Given the description of an element on the screen output the (x, y) to click on. 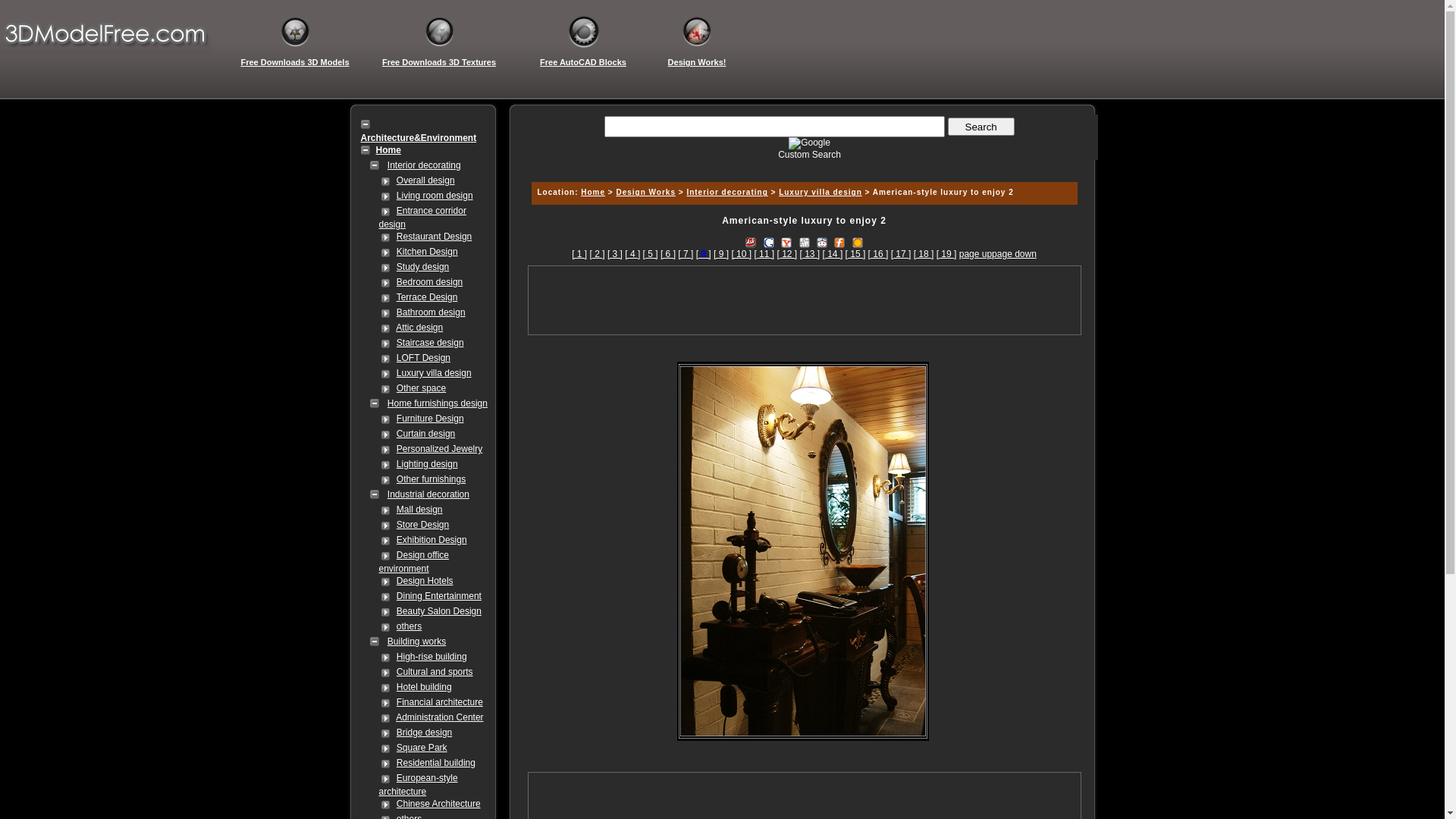
Home furnishings design Element type: text (437, 403)
[ 12 ] Element type: text (786, 253)
Residential building Element type: text (435, 762)
Curtain design Element type: text (425, 433)
Design Works! Element type: text (696, 61)
[ 16 ] Element type: text (878, 253)
Digg This! Element type: hover (803, 241)
Administration Center Element type: text (439, 717)
Overall design Element type: text (425, 180)
bookmark to Yahoo! MyWeb Element type: hover (785, 241)
[ 6 ] Element type: text (667, 253)
[ 4 ] Element type: text (632, 253)
Home Element type: text (388, 149)
[ 1 ] Element type: text (578, 253)
Bedroom design Element type: text (429, 281)
    Search     Element type: text (980, 126)
Dining Entertainment Element type: text (438, 595)
Store Design Element type: text (422, 524)
Bathroom design Element type: text (430, 312)
Attic design Element type: text (418, 327)
ABookmark  To Furl Element type: hover (839, 241)
Luxury villa design Element type: text (433, 372)
Add to ma.gnolia Element type: hover (857, 241)
Add to reddit Element type: hover (821, 241)
Building works Element type: text (416, 641)
[ 13 ] Element type: text (809, 253)
Advertisement Element type: hover (802, 165)
Staircase design Element type: text (430, 342)
[ 7 ] Element type: text (685, 253)
[ 19 ] Element type: text (946, 253)
Living room design Element type: text (434, 195)
European-style architecture Element type: text (418, 784)
Free AutoCAD Blocks Element type: text (582, 61)
High-rise building Element type: text (431, 656)
Bookmark to Google Element type: hover (768, 241)
Home Element type: text (592, 192)
Hotel building Element type: text (423, 686)
[ 8 ] Element type: text (703, 253)
Square Park Element type: text (421, 747)
[ 9 ] Element type: text (720, 253)
Bridge design Element type: text (423, 732)
Financial architecture Element type: text (439, 701)
[ 3 ] Element type: text (614, 253)
Luxury villa design Element type: text (820, 192)
Furniture Design Element type: text (430, 418)
Architecture&Environment Element type: text (418, 137)
Entrance corridor design Element type: text (422, 217)
Personalized Jewelry Element type: text (439, 448)
[ 15 ] Element type: text (855, 253)
[ 10 ] Element type: text (741, 253)
Cultural and sports Element type: text (434, 671)
Study design Element type: text (422, 266)
page down Element type: text (1013, 253)
Interior decorating Element type: text (726, 192)
[ 14 ] Element type: text (832, 253)
Chinese Architecture Element type: text (438, 803)
[ 11 ] Element type: text (763, 253)
others Element type: text (408, 626)
page up Element type: text (975, 253)
Other furnishings Element type: text (430, 478)
Free Downloads 3D Models Element type: text (294, 61)
Industrial decoration Element type: text (428, 494)
bookmark to Jeeves Element type: hover (750, 241)
LOFT Design Element type: text (423, 357)
Restaurant Design Element type: text (433, 236)
Design Works Element type: text (645, 192)
[ 18 ] Element type: text (923, 253)
Terrace Design Element type: text (427, 296)
Beauty Salon Design Element type: text (438, 610)
Interior decorating Element type: text (424, 165)
Kitchen Design Element type: text (427, 251)
[ 17 ] Element type: text (901, 253)
Advertisement Element type: hover (803, 346)
Lighting design Element type: text (427, 463)
[ 2 ] Element type: text (597, 253)
Exhibition Design Element type: text (431, 539)
Advertisement Element type: hover (803, 300)
Mall design Element type: text (419, 509)
Design office environment Element type: text (414, 561)
Other space Element type: text (420, 387)
[ 5 ] Element type: text (650, 253)
Free Downloads 3D Textures Element type: text (438, 61)
Design Hotels Element type: text (424, 580)
